Given the description of an element on the screen output the (x, y) to click on. 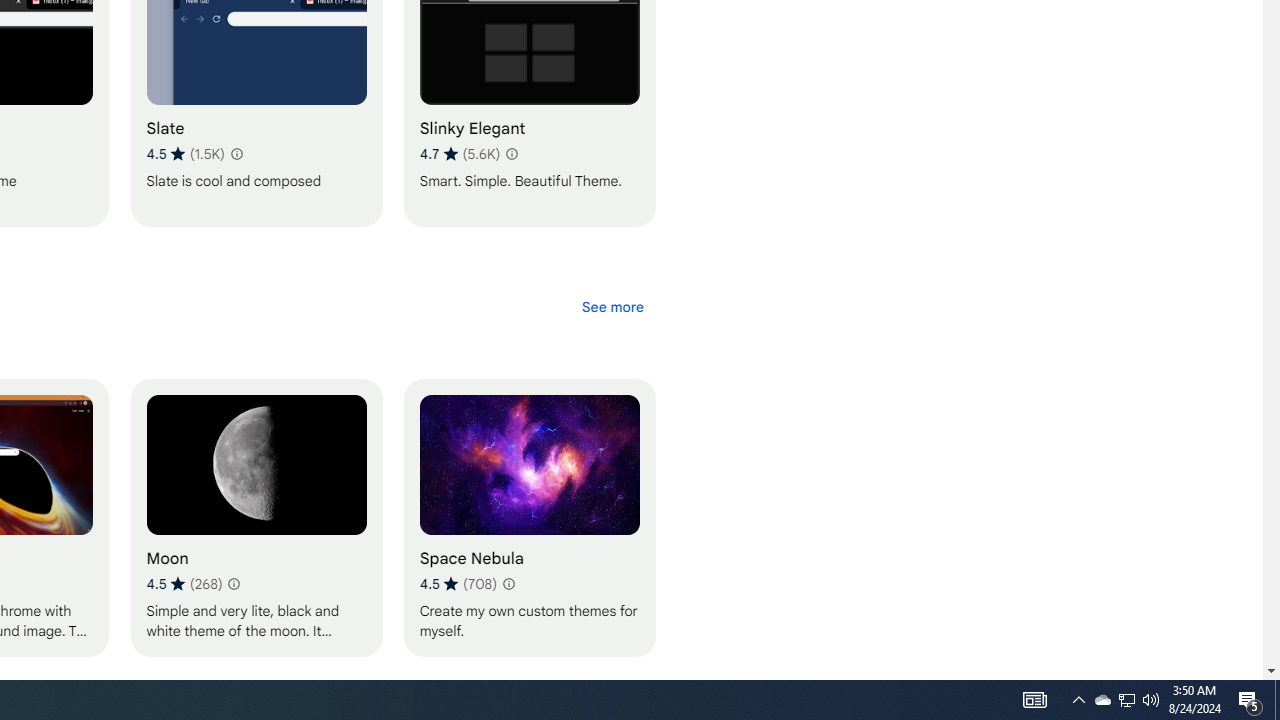
Moon (255, 517)
See more of the "Space exploration" collection (612, 306)
Space Nebula (529, 517)
Learn more about results and reviews "Slate" (235, 153)
Average rating 4.5 out of 5 stars. 268 ratings. (183, 583)
Average rating 4.5 out of 5 stars. 708 ratings. (457, 583)
Learn more about results and reviews "Moon" (233, 583)
Learn more about results and reviews "Space Nebula" (507, 583)
Average rating 4.5 out of 5 stars. 1.5K ratings. (185, 154)
Average rating 4.7 out of 5 stars. 5.6K ratings. (459, 154)
Learn more about results and reviews "Slinky Elegant" (511, 153)
